Given the description of an element on the screen output the (x, y) to click on. 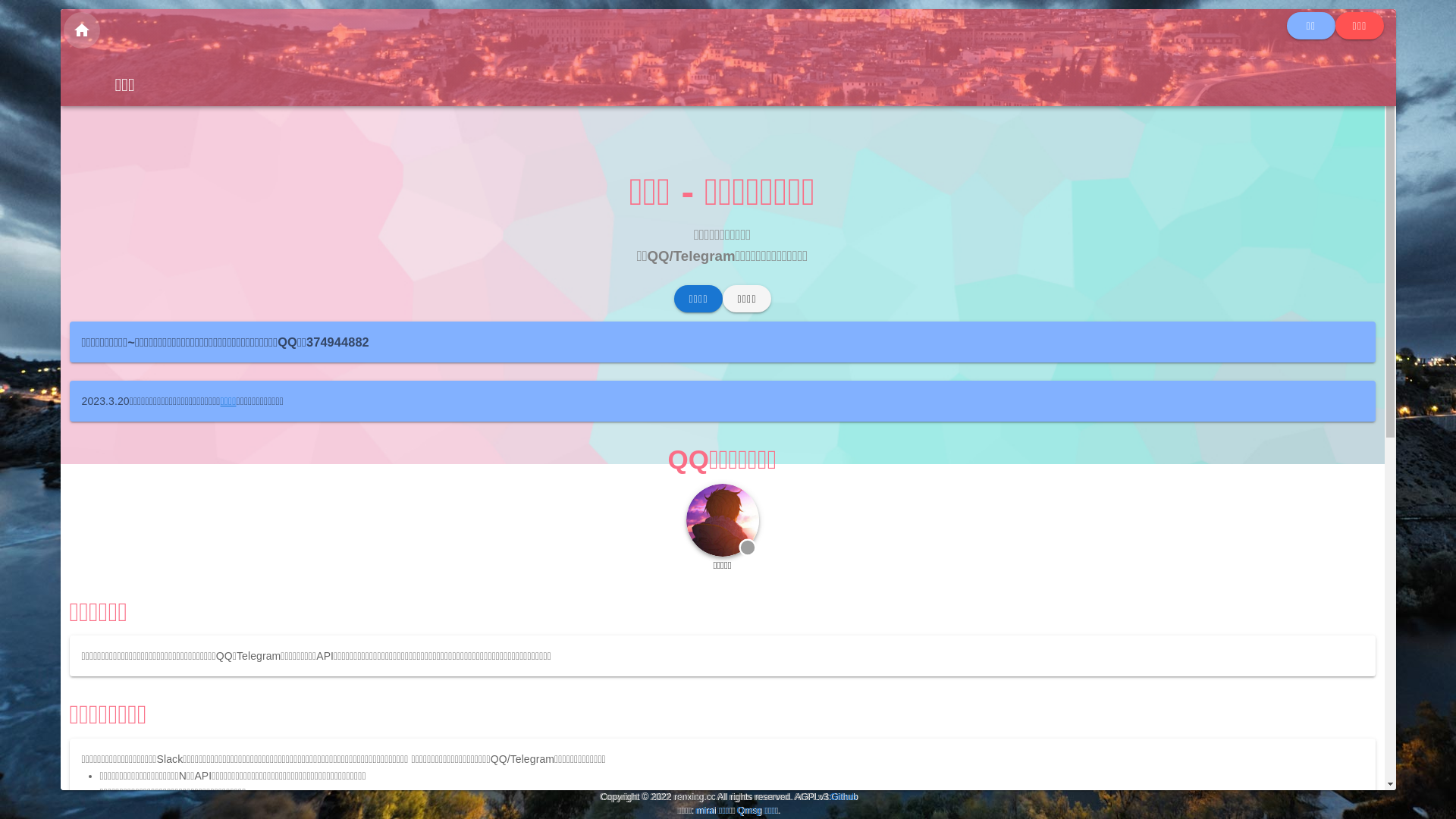
renxing.cc Element type: text (693, 796)
Github Element type: text (842, 796)
